Given the description of an element on the screen output the (x, y) to click on. 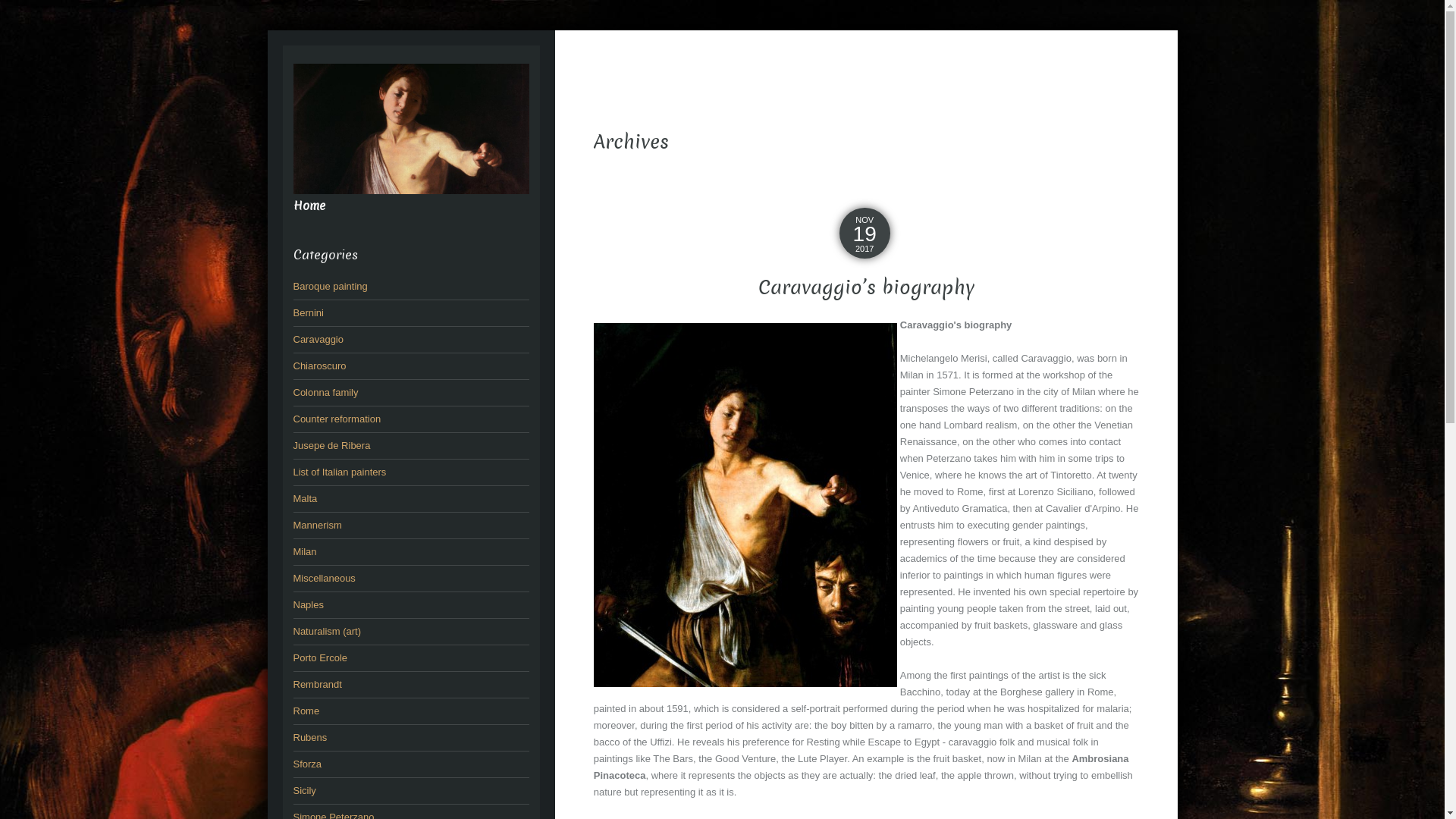
Sicily Element type: text (303, 790)
Milan Element type: text (304, 551)
Caravaggio Element type: text (317, 339)
Rembrandt Element type: text (316, 684)
Naples Element type: text (307, 604)
Home Element type: text (308, 205)
Sforza Element type: text (306, 763)
Rubens Element type: text (309, 737)
Bernini Element type: text (307, 312)
Colonna family Element type: text (324, 392)
Rome Element type: text (305, 710)
Naturalism (art) Element type: text (326, 631)
Malta Element type: text (304, 498)
Counter reformation Element type: text (336, 418)
Caravaggio Element type: hover (410, 127)
Baroque painting Element type: text (329, 285)
Jusepe de Ribera Element type: text (331, 445)
Miscellaneous Element type: text (323, 577)
List of Italian painters Element type: text (338, 471)
Chiaroscuro Element type: text (318, 365)
Porto Ercole Element type: text (319, 657)
Mannerism Element type: text (316, 524)
